Given the description of an element on the screen output the (x, y) to click on. 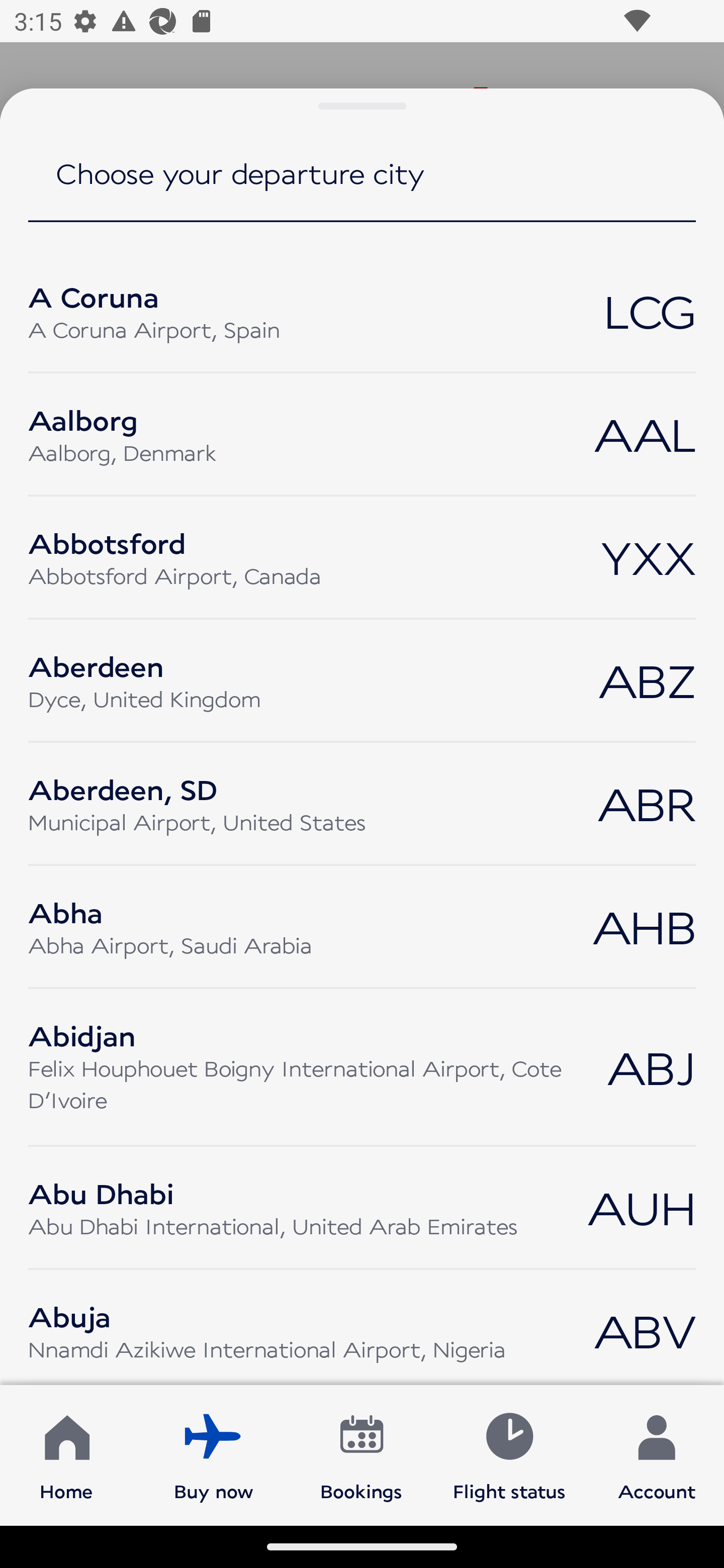
Choose your departure city (361, 186)
A Coruna A Coruna Airport, Spain LCG (361, 310)
Aalborg Aalborg, Denmark AAL (361, 434)
Abbotsford Abbotsford Airport, Canada YXX (361, 556)
Aberdeen Dyce, United Kingdom ABZ (361, 680)
Aberdeen, SD Municipal Airport, United States ABR (361, 803)
Abha Abha Airport, Saudi Arabia AHB (361, 926)
Home (66, 1454)
Bookings (361, 1454)
Flight status (509, 1454)
Account (657, 1454)
